Given the description of an element on the screen output the (x, y) to click on. 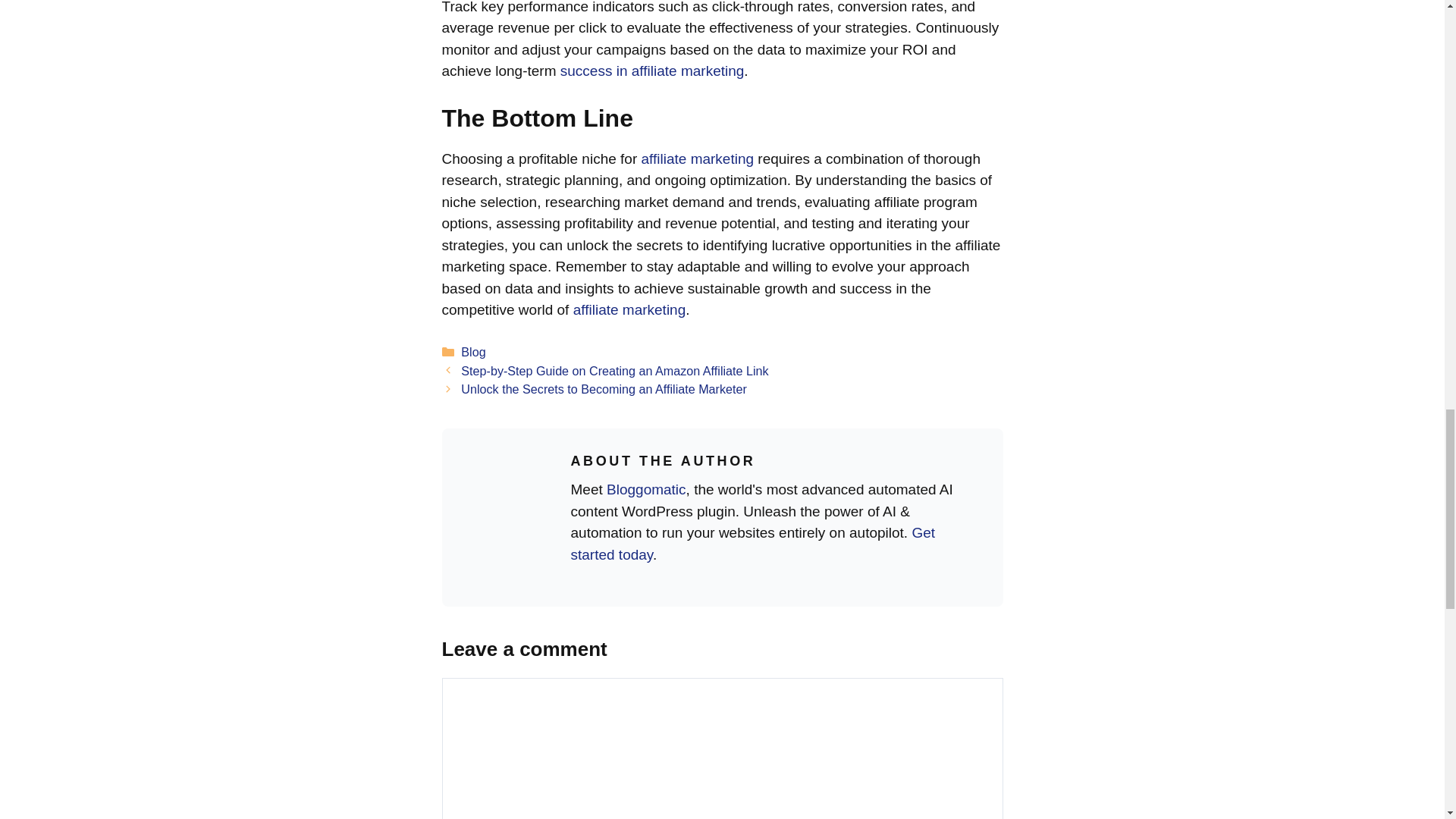
Get started today (752, 543)
affiliate marketing (629, 309)
affiliate marketing (698, 158)
Blog (472, 351)
Unlock the Secrets to Becoming an Affiliate Marketer (603, 388)
success in affiliate marketing (652, 70)
Bloggomatic (646, 489)
Step-by-Step Guide on Creating an Amazon Affiliate Link (614, 370)
